Given the description of an element on the screen output the (x, y) to click on. 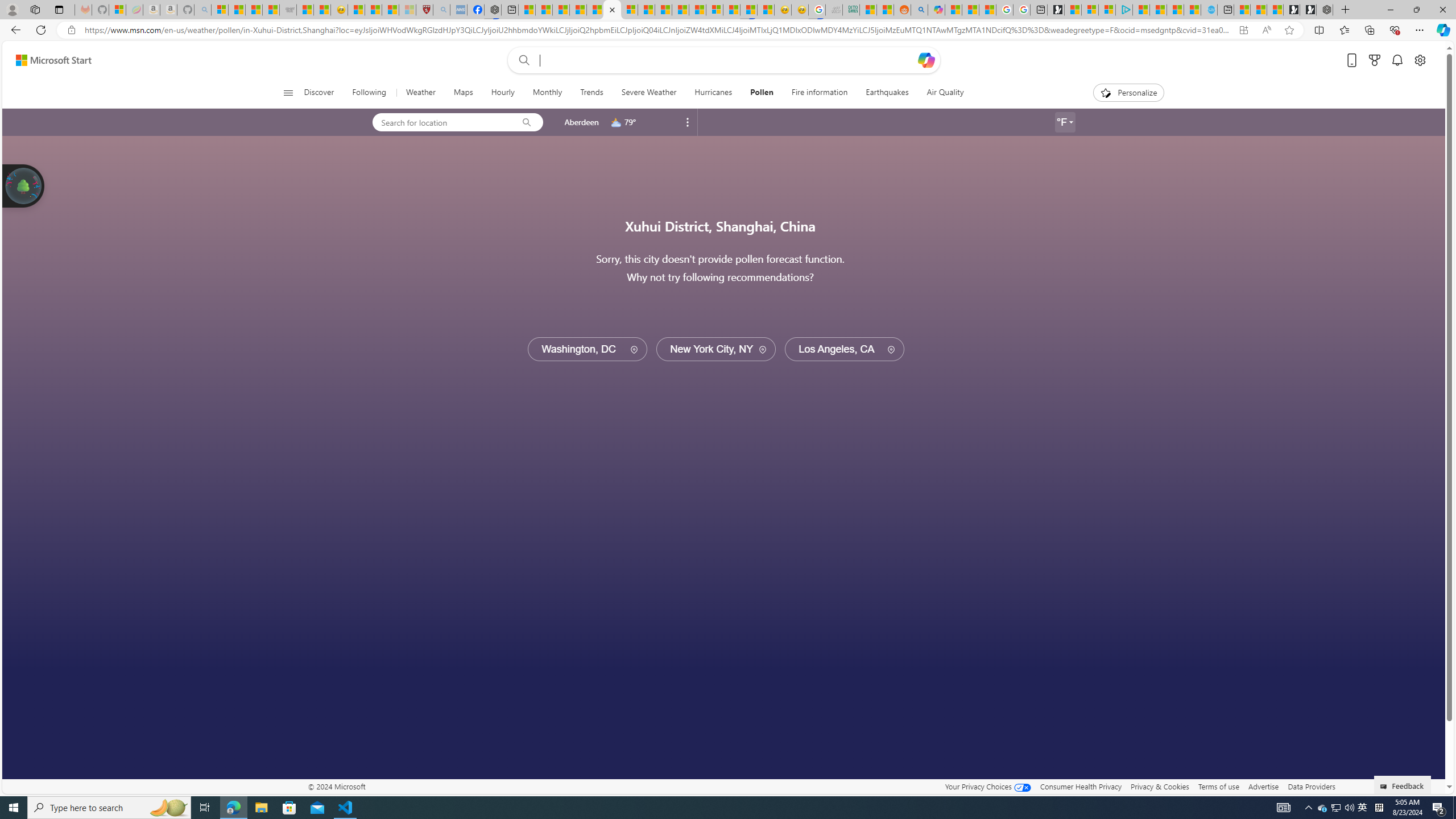
Washington, DC (587, 349)
Microsoft Copilot in Bing (936, 9)
Class: feedback_link_icon-DS-EntryPoint1-1 (1384, 786)
Trends (590, 92)
Search for location (440, 122)
